Given the description of an element on the screen output the (x, y) to click on. 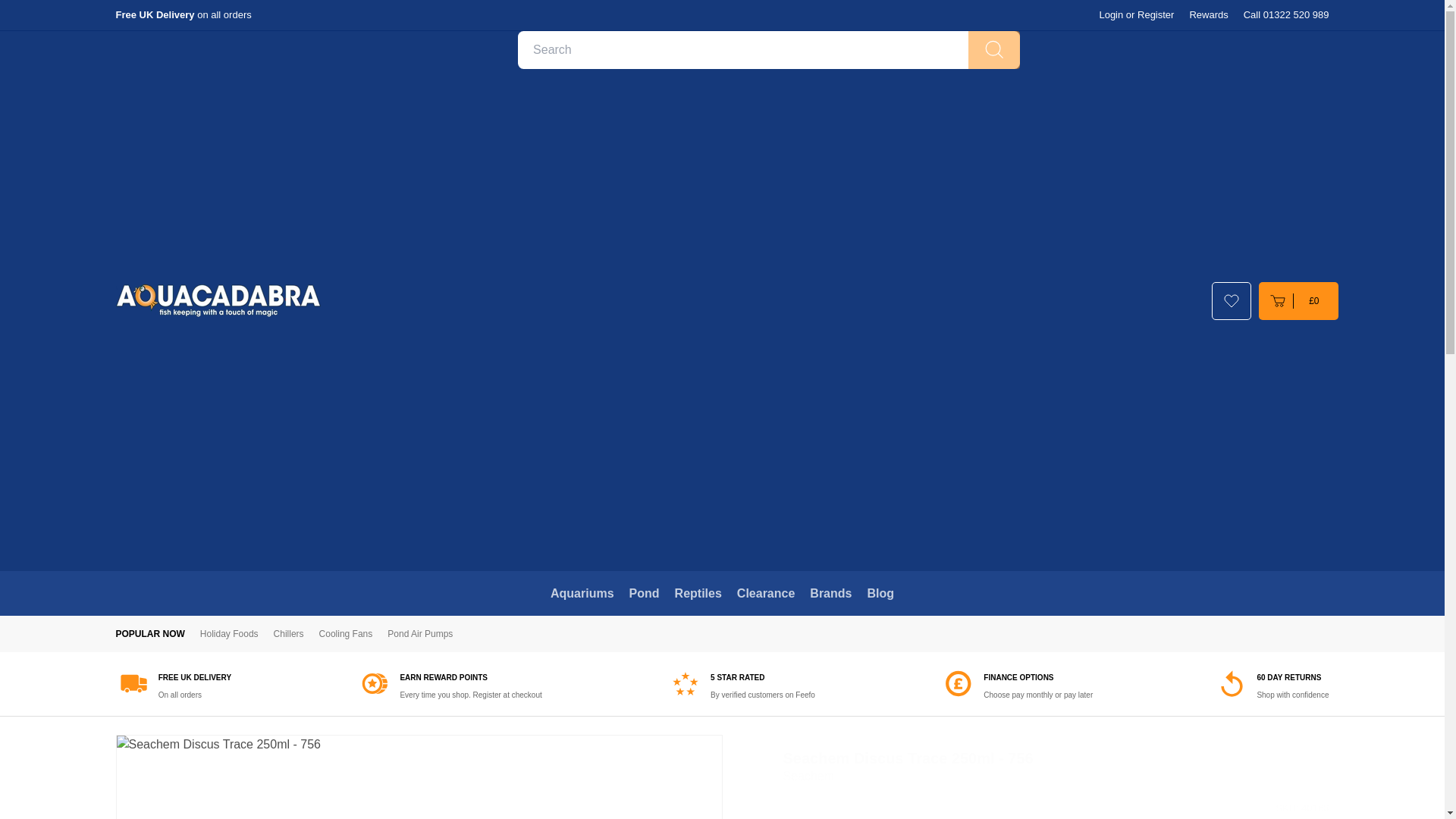
Login or Register (1136, 14)
Open media 1 in modal (418, 776)
Call 01322 520 989 (1286, 14)
Rewards (1208, 14)
SKIP TO CONTENT (18, 11)
